Given the description of an element on the screen output the (x, y) to click on. 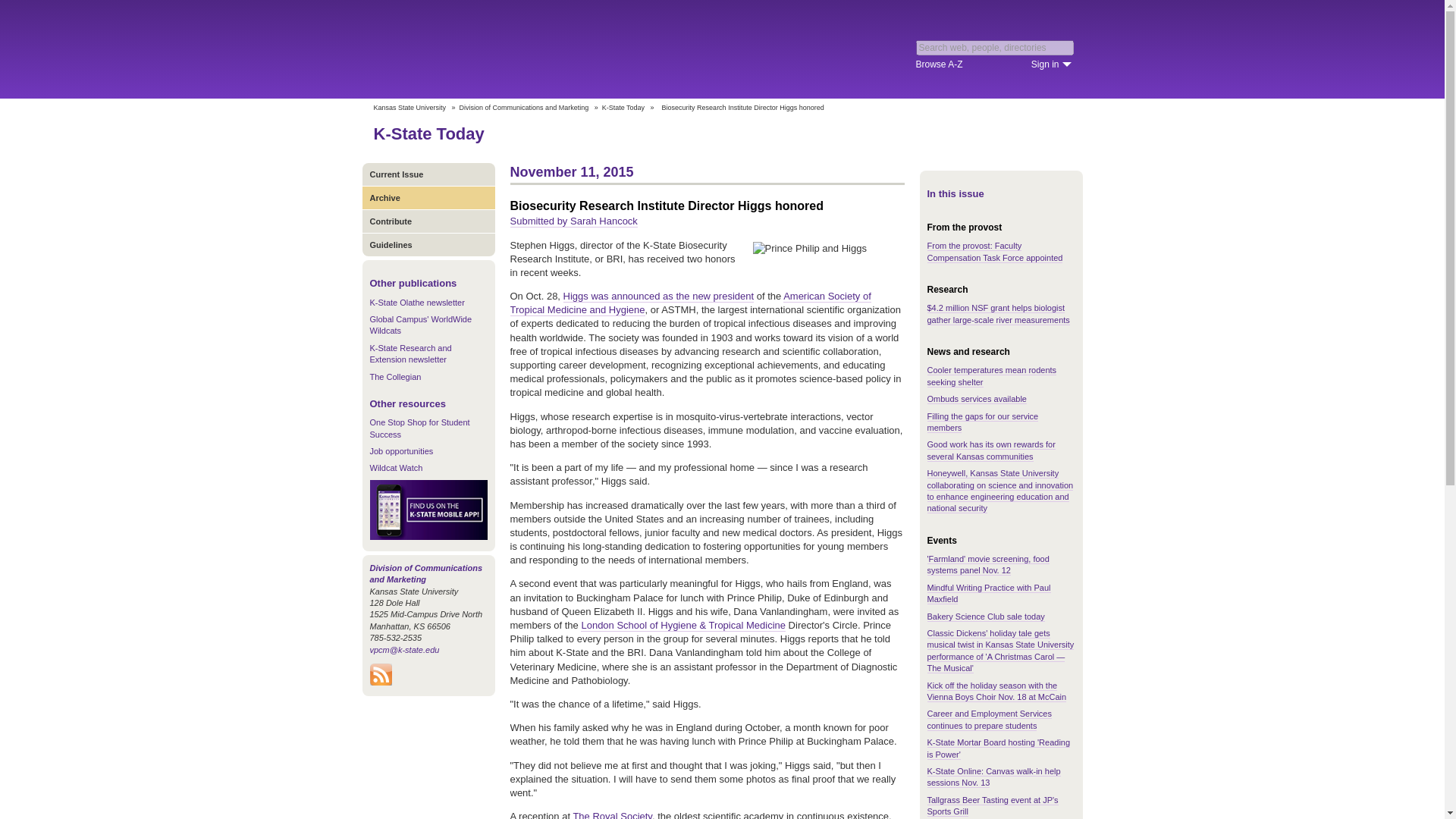
Higgs was announced as the new president (658, 296)
K-State Research and Extension newsletter (410, 353)
Global Campus' WorldWide Wildcats (420, 324)
Subscribe to K-State Today RSS feeds (380, 682)
K-State Olathe newsletter (416, 302)
Division of Communications and Marketing (524, 107)
Search web, people, directories (994, 47)
Submitted by Sarah Hancock (573, 221)
From the provost: Faculty Compensation Task Force appointed (994, 251)
One Stop Shop for Student Success (419, 427)
K-State Today (623, 107)
Job opportunities (401, 450)
Search web, people, directories (994, 47)
Wildcat Watch (396, 467)
